Given the description of an element on the screen output the (x, y) to click on. 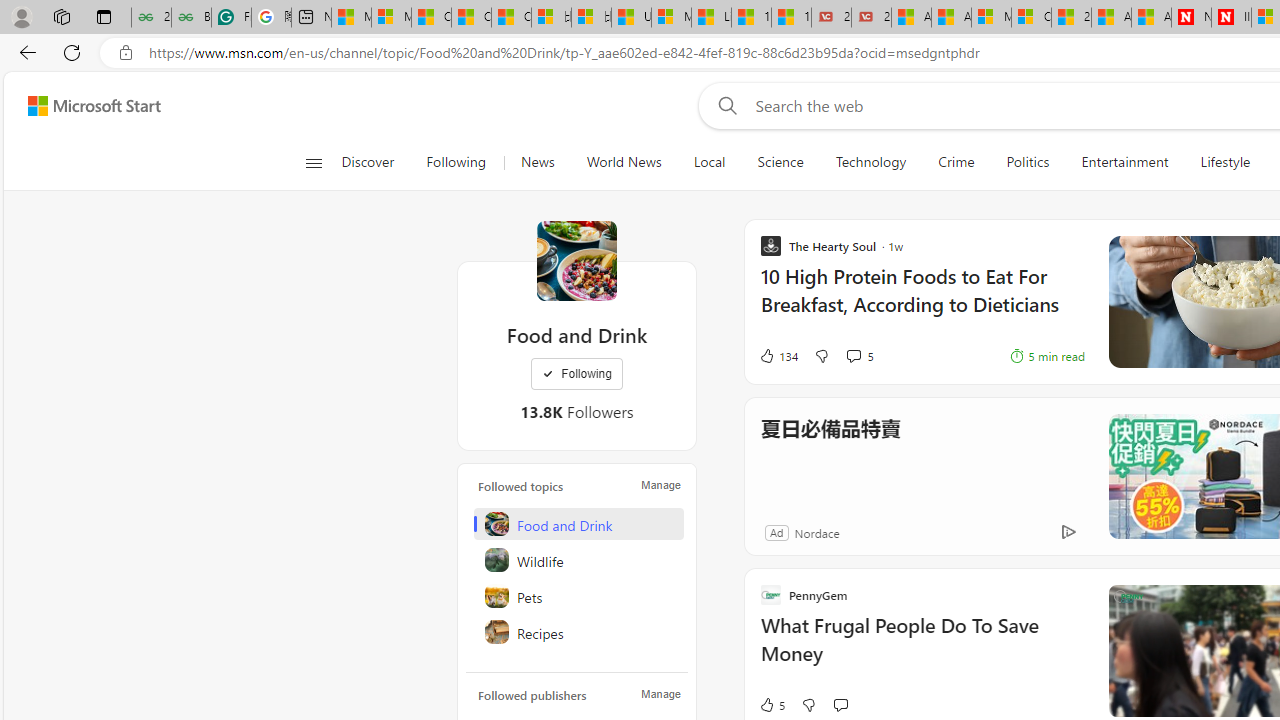
Ad (776, 532)
Workspaces (61, 16)
Entertainment (1124, 162)
Open navigation menu (313, 162)
Newsweek - News, Analysis, Politics, Business, Technology (1191, 17)
Following (456, 162)
Entertainment (1124, 162)
World News (623, 162)
Food and Drink (576, 260)
Discover (375, 162)
Skip to content (86, 105)
25 Basic Linux Commands For Beginners - GeeksforGeeks (151, 17)
View comments 5 Comment (859, 355)
